Given the description of an element on the screen output the (x, y) to click on. 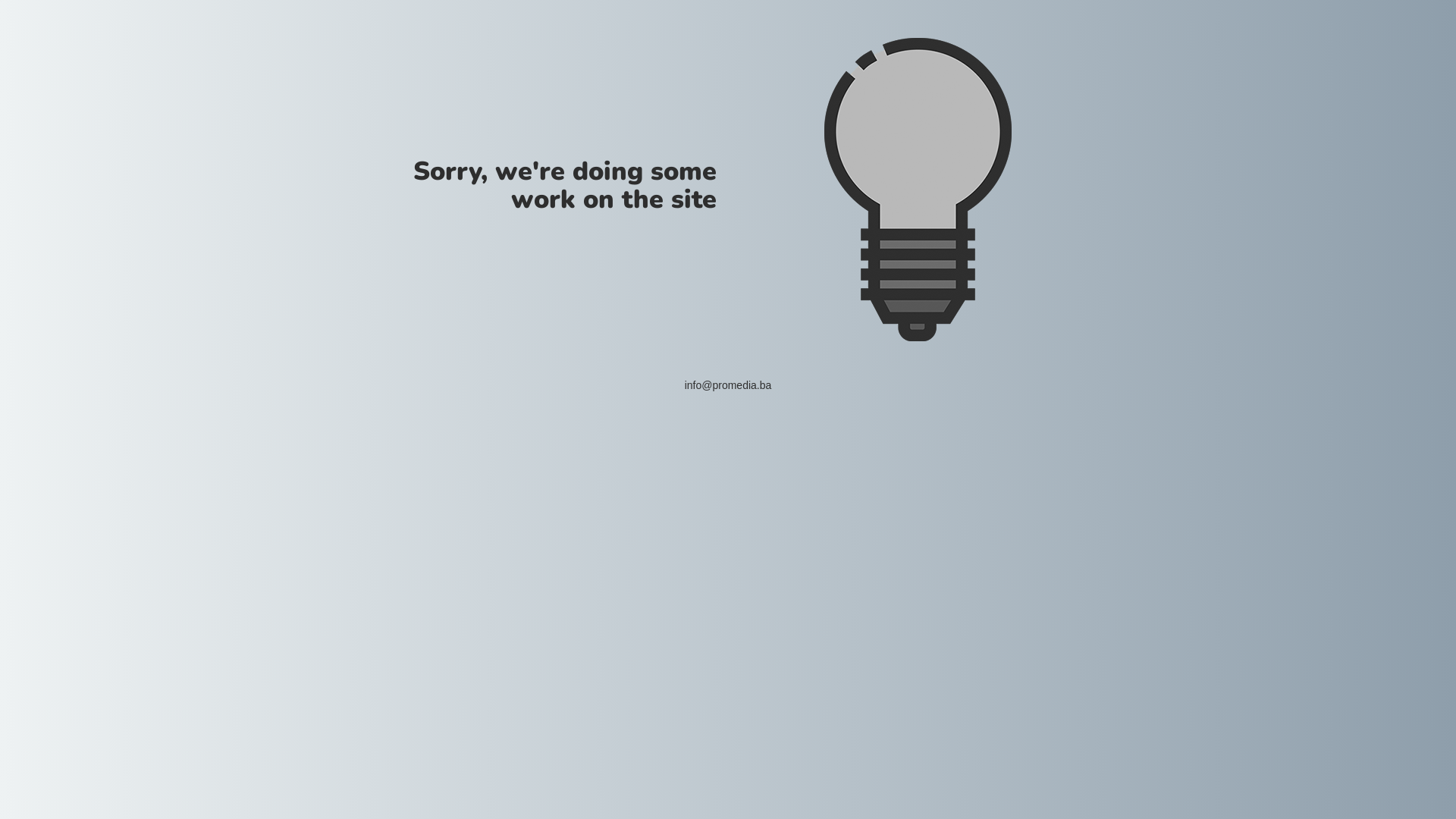
Switching on the site soon ... Element type: hover (916, 189)
